Given the description of an element on the screen output the (x, y) to click on. 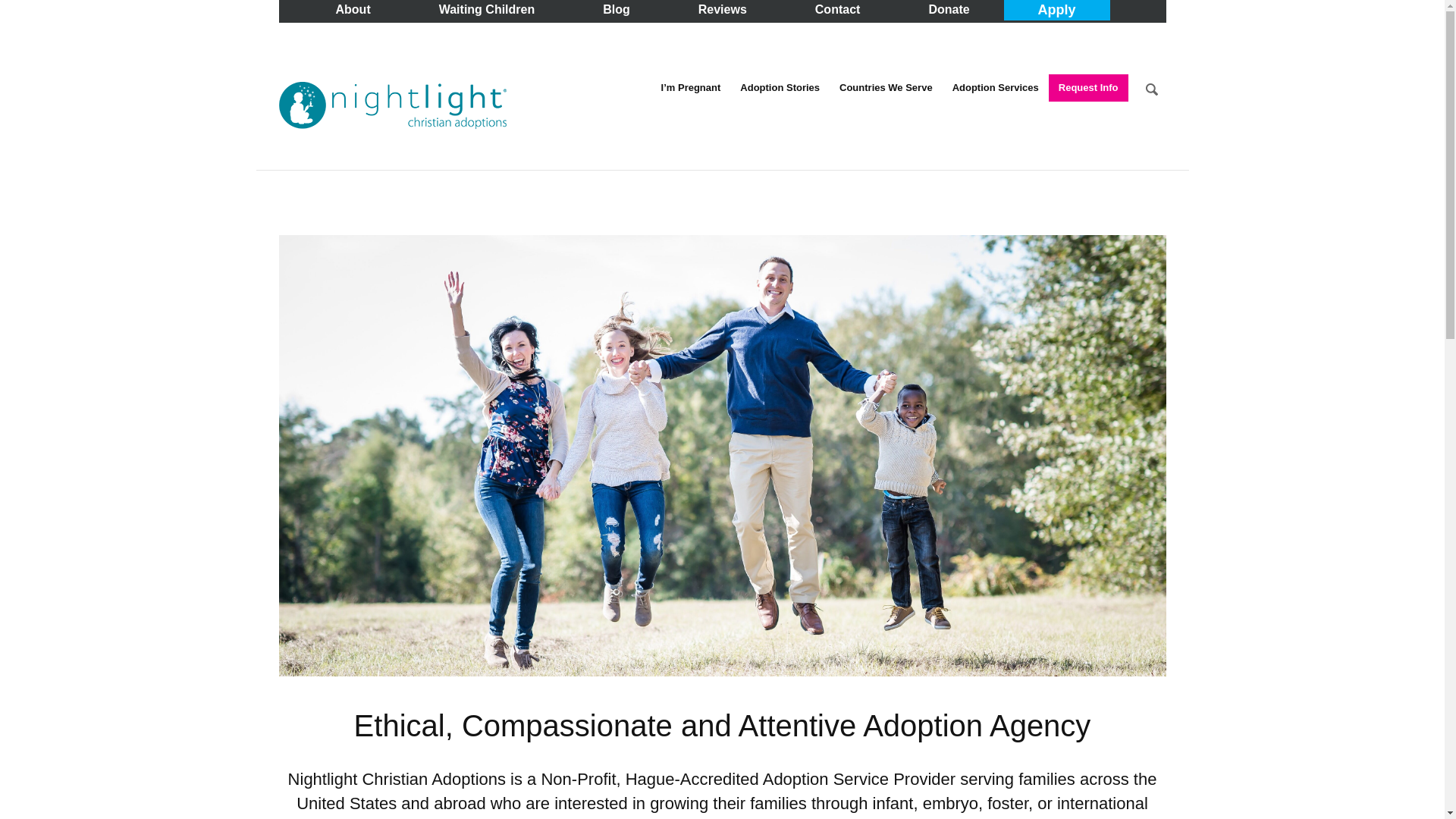
Apply (1056, 10)
Adoption Stories (779, 87)
Waiting Children (486, 9)
Adoption Services (995, 87)
Countries We Serve (885, 87)
Blog (616, 9)
Donate (948, 9)
Reviews (721, 9)
Contact (837, 9)
Request Info (1088, 87)
About (352, 9)
